Given the description of an element on the screen output the (x, y) to click on. 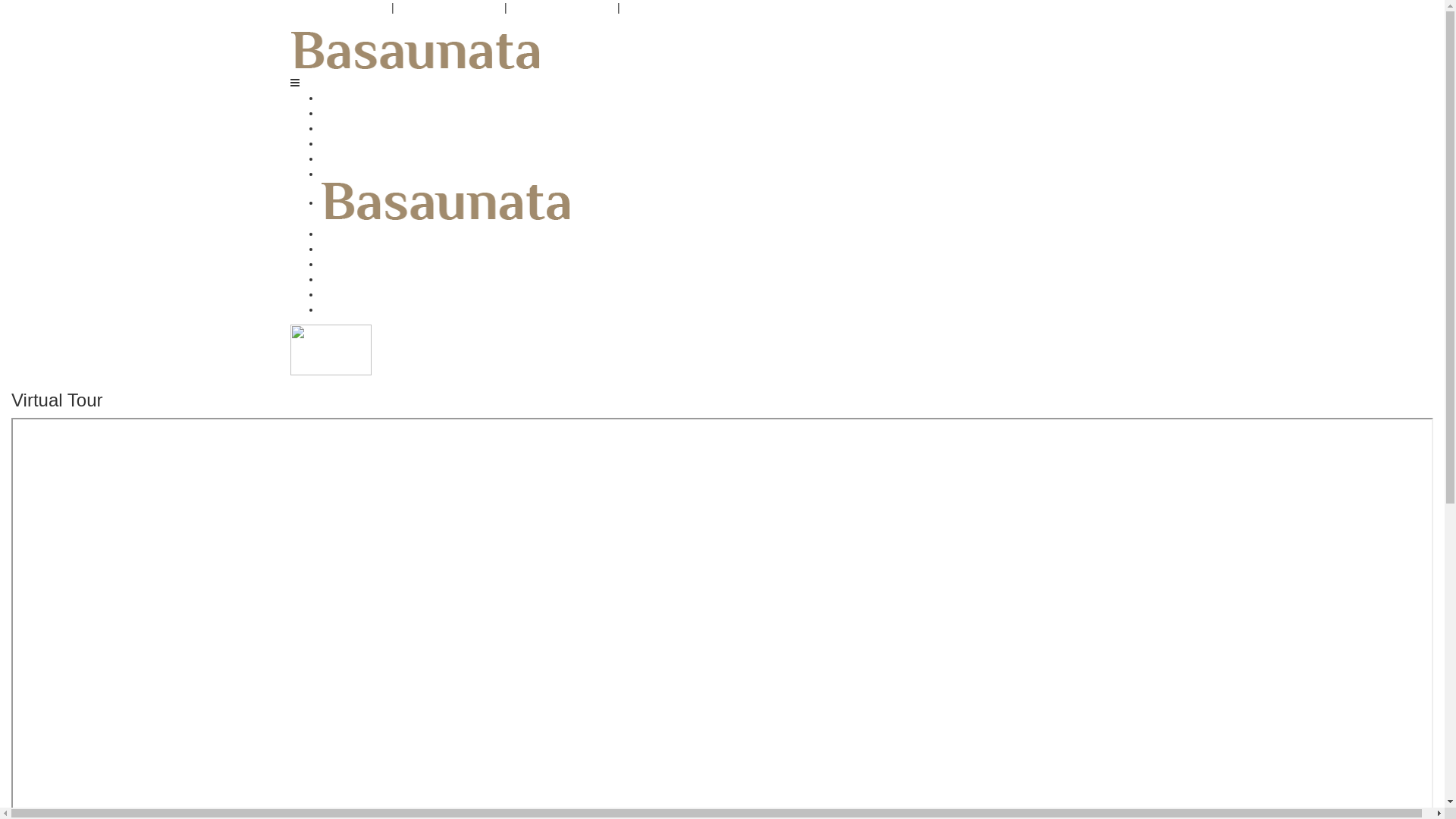
Home Element type: text (334, 97)
Huidverzorging Element type: text (355, 279)
info@basaunata.be Element type: text (673, 7)
Contact Element type: text (338, 309)
/ Element type: text (321, 143)
Prijzen Element type: text (336, 248)
/ Element type: text (321, 263)
/ Element type: text (321, 233)
Arrangementen Element type: text (356, 128)
Galerij Element type: text (335, 158)
/ Element type: text (321, 294)
+32 (0)472 59 59 24 Element type: text (562, 7)
+32 (0)498 51 96 51 Element type: text (449, 7)
/ Element type: text (321, 112)
+32 (0)9 324 85 50 Element type: text (338, 7)
/ Element type: text (321, 173)
